Given the description of an element on the screen output the (x, y) to click on. 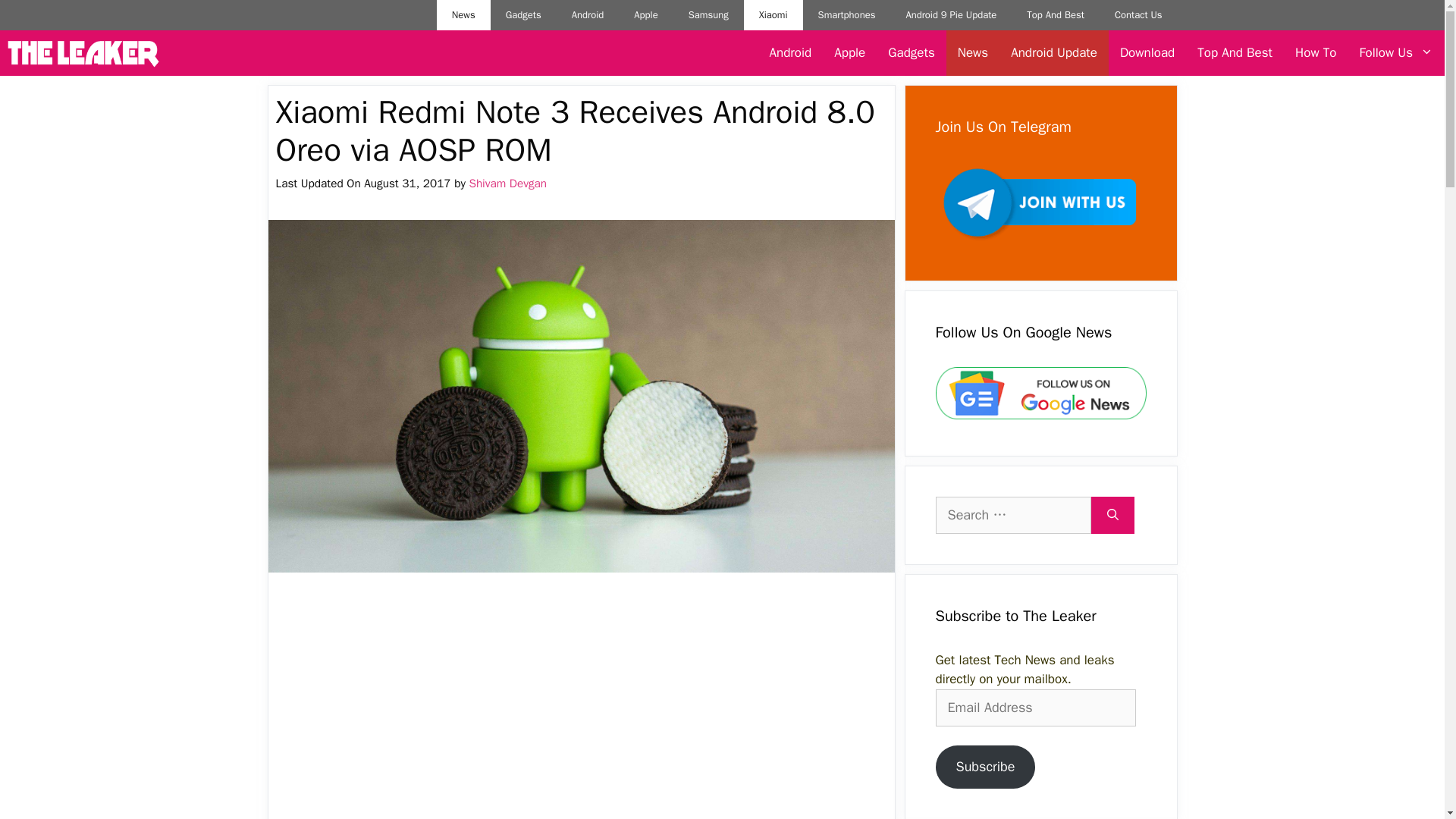
Apple (645, 15)
Xiaomi (773, 15)
Android (791, 53)
Download (1147, 53)
Apple (849, 53)
Top And Best (1055, 15)
Smartphones (847, 15)
Android (588, 15)
How To (1316, 53)
The Leaker (82, 53)
Top And Best (1235, 53)
Contact Us (1138, 15)
News (972, 53)
Android 9 Pie Update (950, 15)
Gadgets (523, 15)
